Given the description of an element on the screen output the (x, y) to click on. 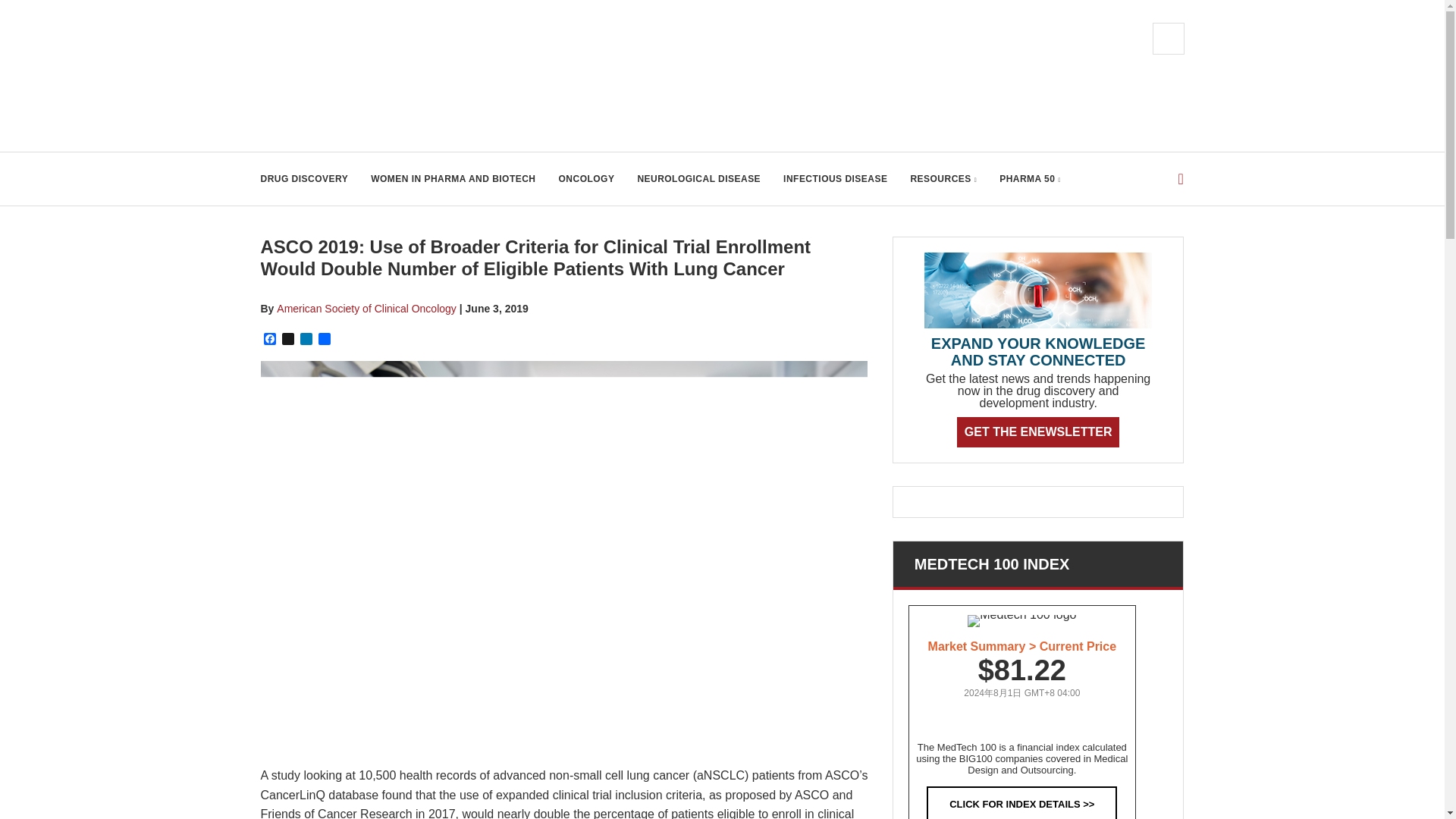
NEUROLOGICAL DISEASE (698, 178)
ONCOLOGY (586, 178)
American Society of Clinical Oncology (366, 308)
Drug Discovery and Development (412, 75)
GET THE ENEWSLETTER (1037, 431)
WOMEN IN PHARMA AND BIOTECH (453, 178)
PHARMA 50 (1029, 178)
DRUG DISCOVERY (304, 178)
GET THE ENEWSLETTER (1037, 431)
RESOURCES (943, 178)
